Given the description of an element on the screen output the (x, y) to click on. 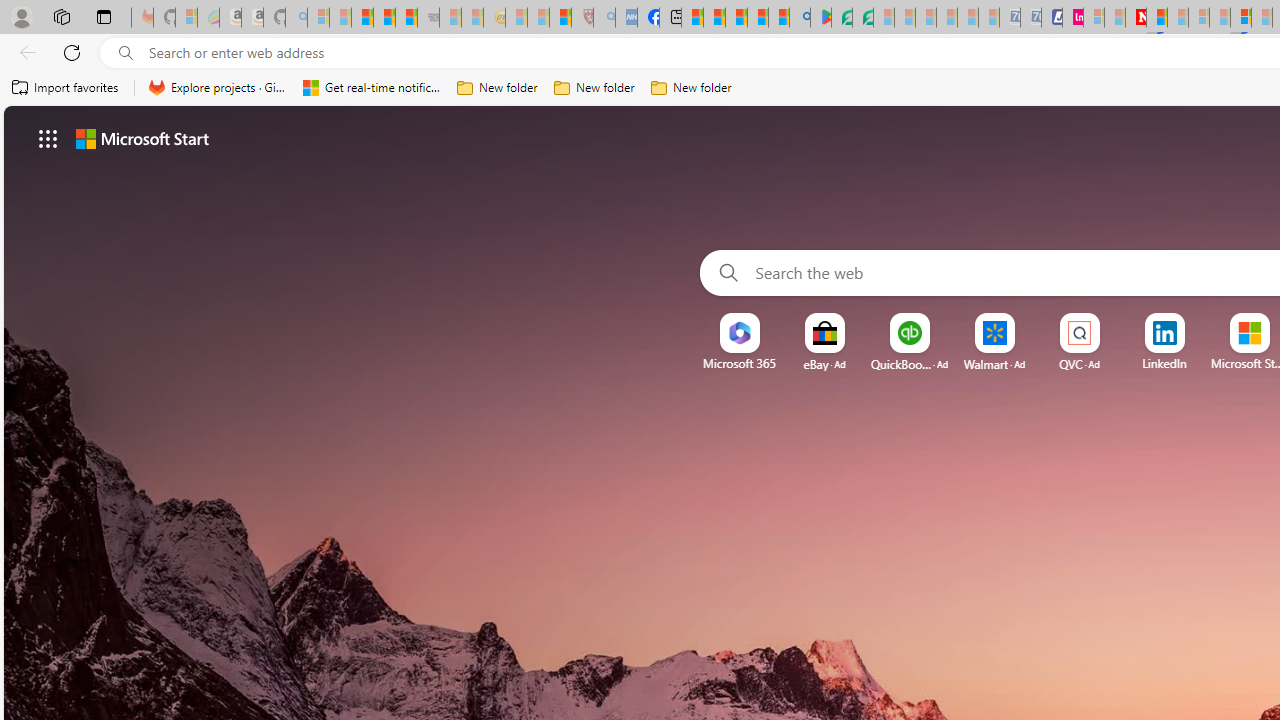
Import favorites (65, 88)
Microsoft start (142, 138)
App launcher (47, 138)
Terms of Use Agreement (842, 17)
